Given the description of an element on the screen output the (x, y) to click on. 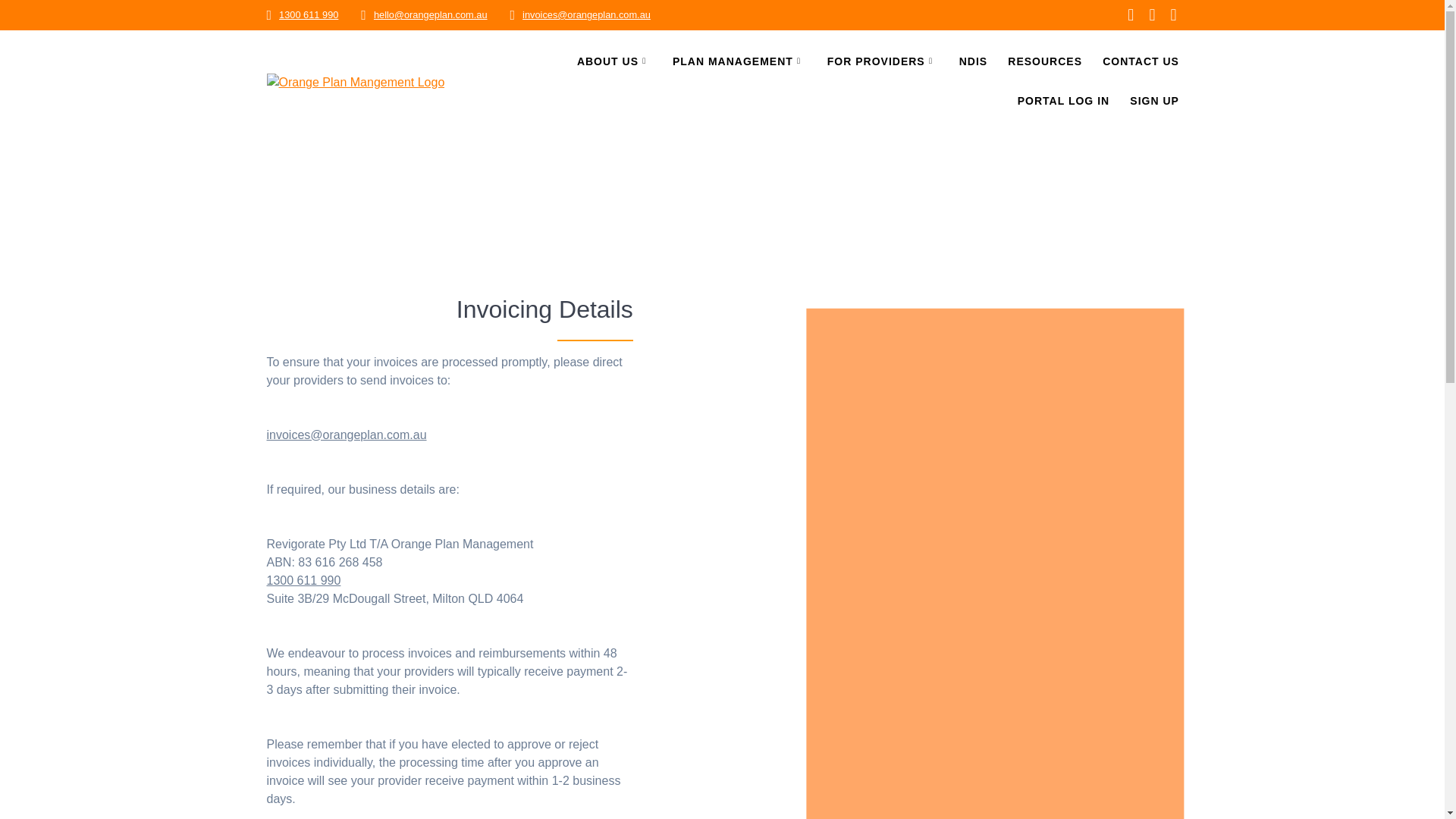
PLAN MANAGEMENT (739, 62)
1300 611 990 (308, 14)
CONTACT US (1140, 62)
SIGN UP (1154, 101)
NDIS (973, 62)
RESOURCES (1044, 62)
1300 611 990 (303, 580)
ABOUT US (614, 62)
FOR PROVIDERS (883, 62)
PORTAL LOG IN (1063, 101)
